Given the description of an element on the screen output the (x, y) to click on. 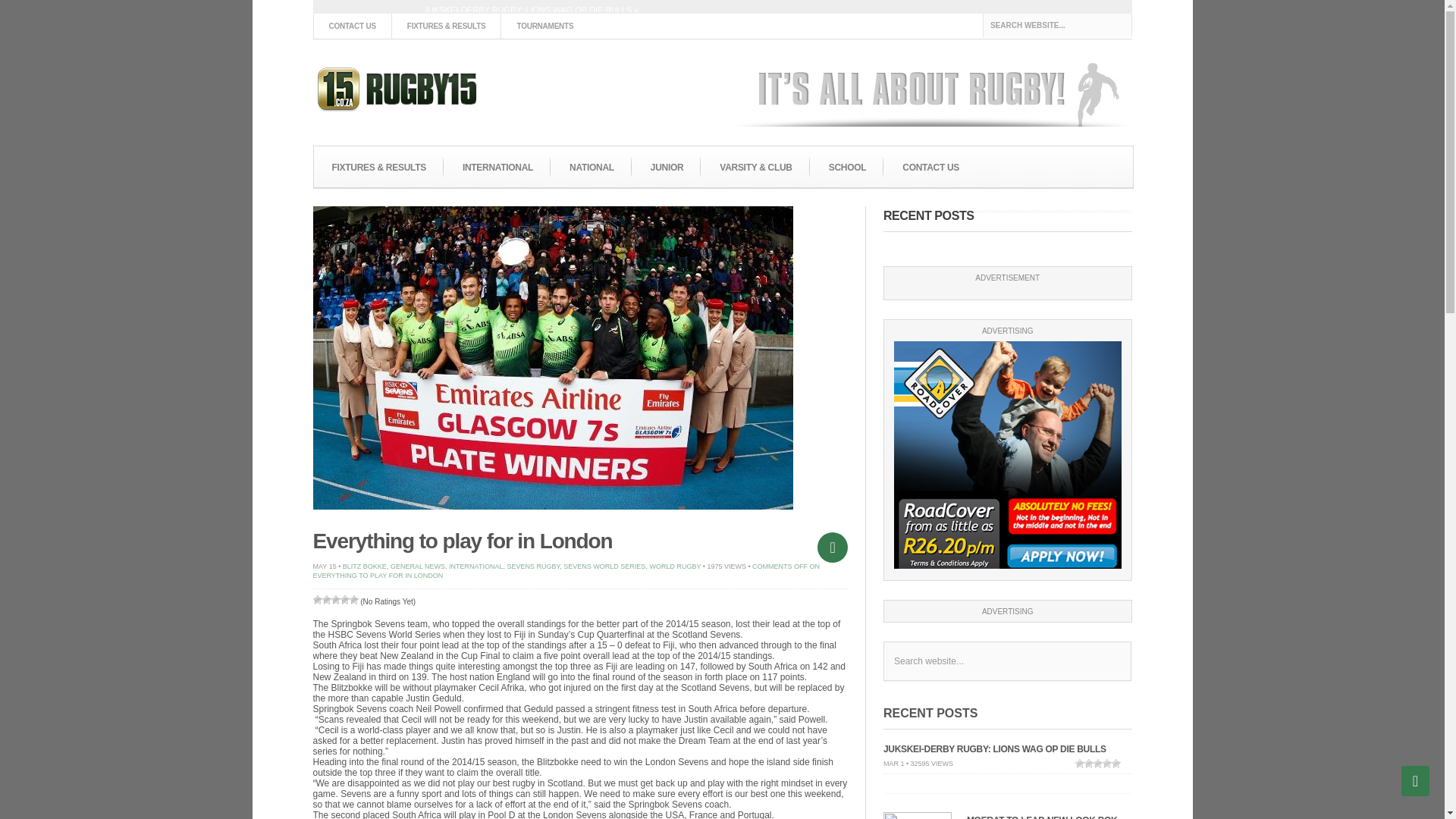
Twitter (1090, 19)
Facebook (1112, 19)
Twitter (1090, 19)
3 Stars (334, 599)
1 Star (317, 599)
You Tube (1067, 19)
TOURNAMENTS (544, 25)
5 Stars (353, 599)
INTERNATIONAL (497, 167)
4 Stars (344, 599)
Facebook (1112, 19)
You Tube (1067, 19)
CONTACT US (351, 25)
Search website... (1007, 660)
Search website... (1056, 24)
